Given the description of an element on the screen output the (x, y) to click on. 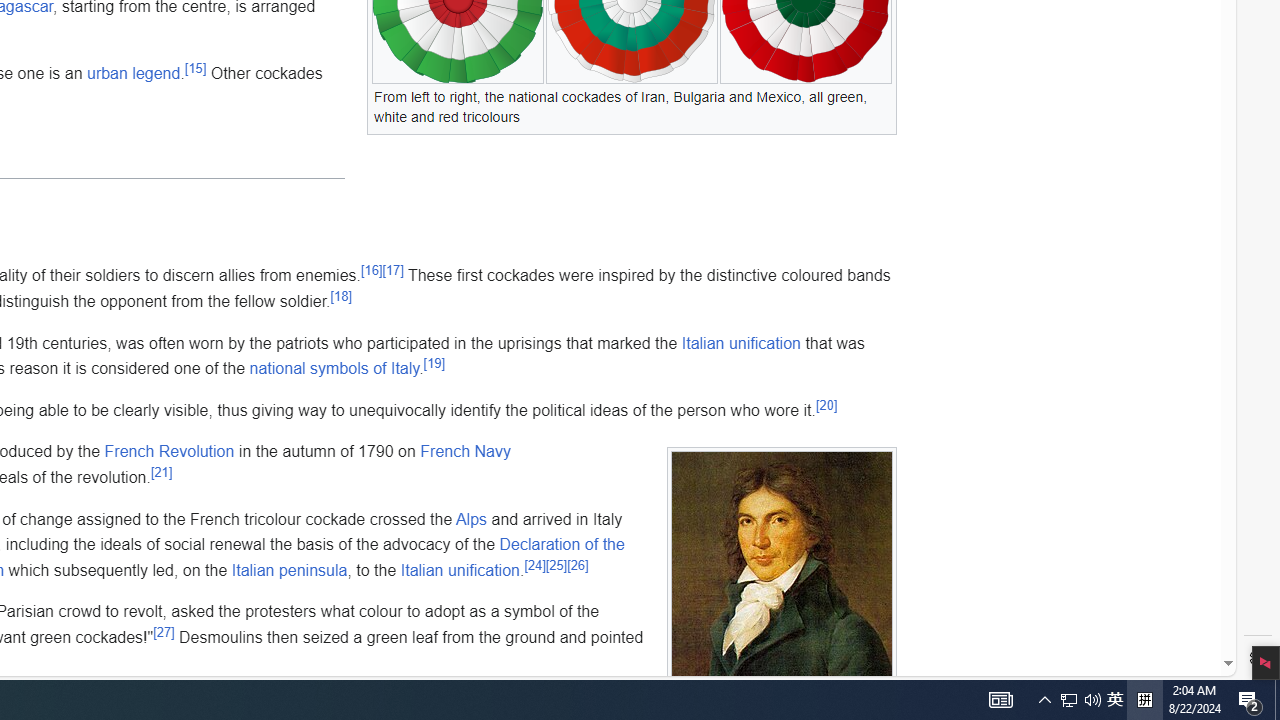
urban legend (132, 73)
[16] (371, 270)
[26] (577, 565)
